Given the description of an element on the screen output the (x, y) to click on. 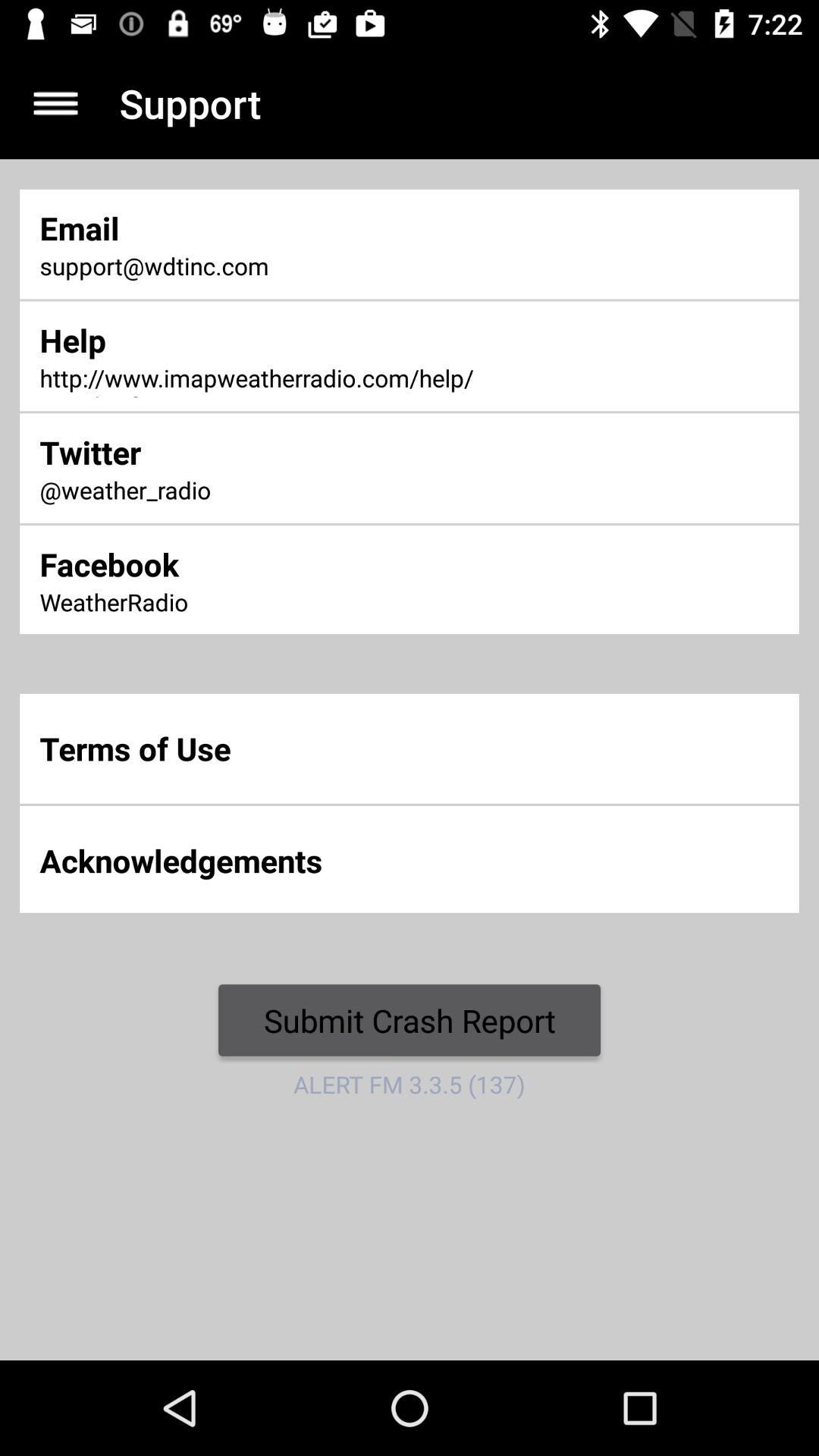
select the facebook icon (272, 563)
